Given the description of an element on the screen output the (x, y) to click on. 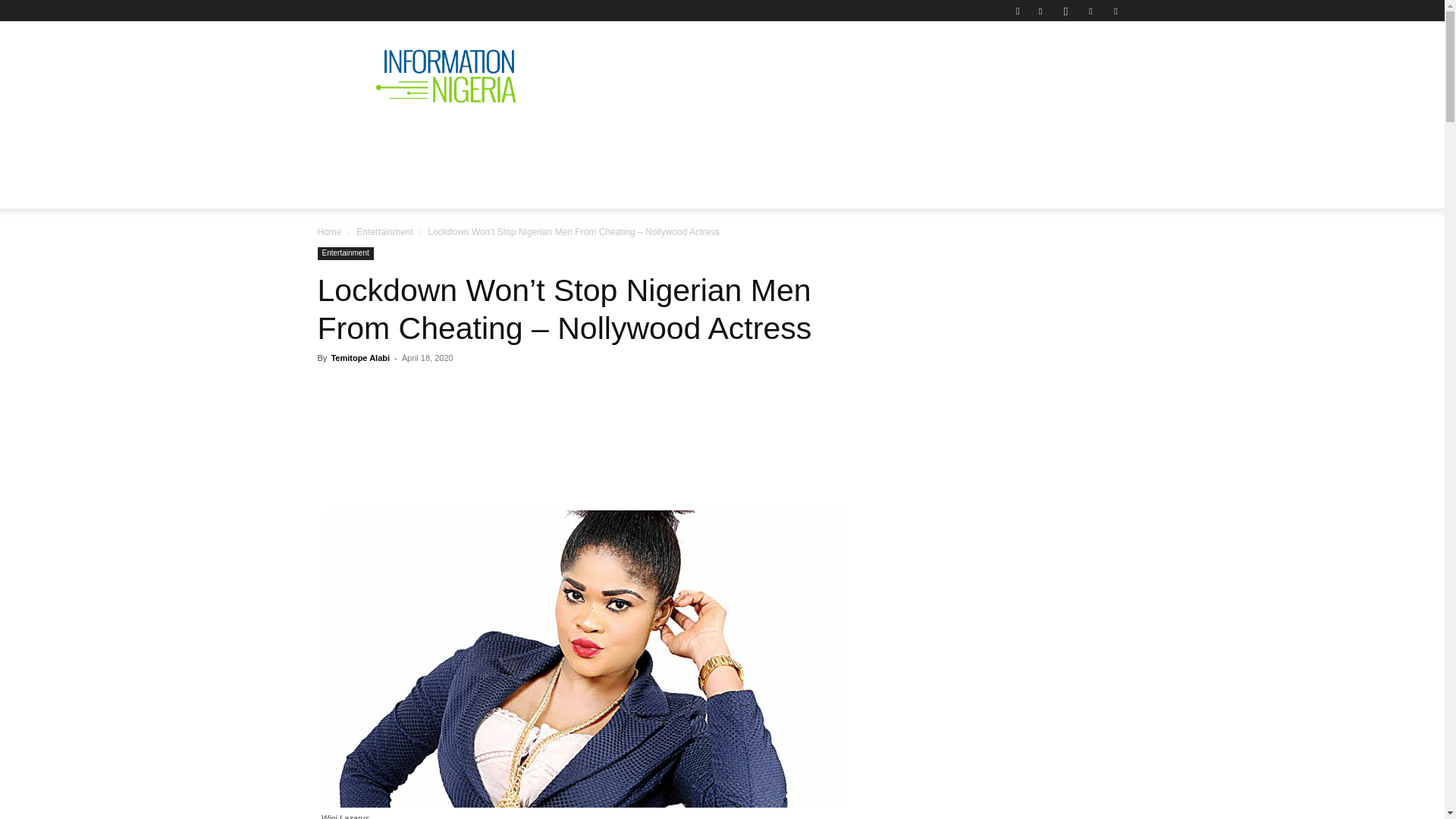
NATIONAL NEWS (444, 139)
SPECIAL REPORTS (660, 139)
Instagram (1065, 10)
POLITICS (551, 139)
Youtube (1114, 10)
METRO NEWS (884, 139)
View all posts in Entertainment (384, 231)
BBC PIDGIN (779, 139)
HOME (347, 139)
Twitter (1090, 10)
